Given the description of an element on the screen output the (x, y) to click on. 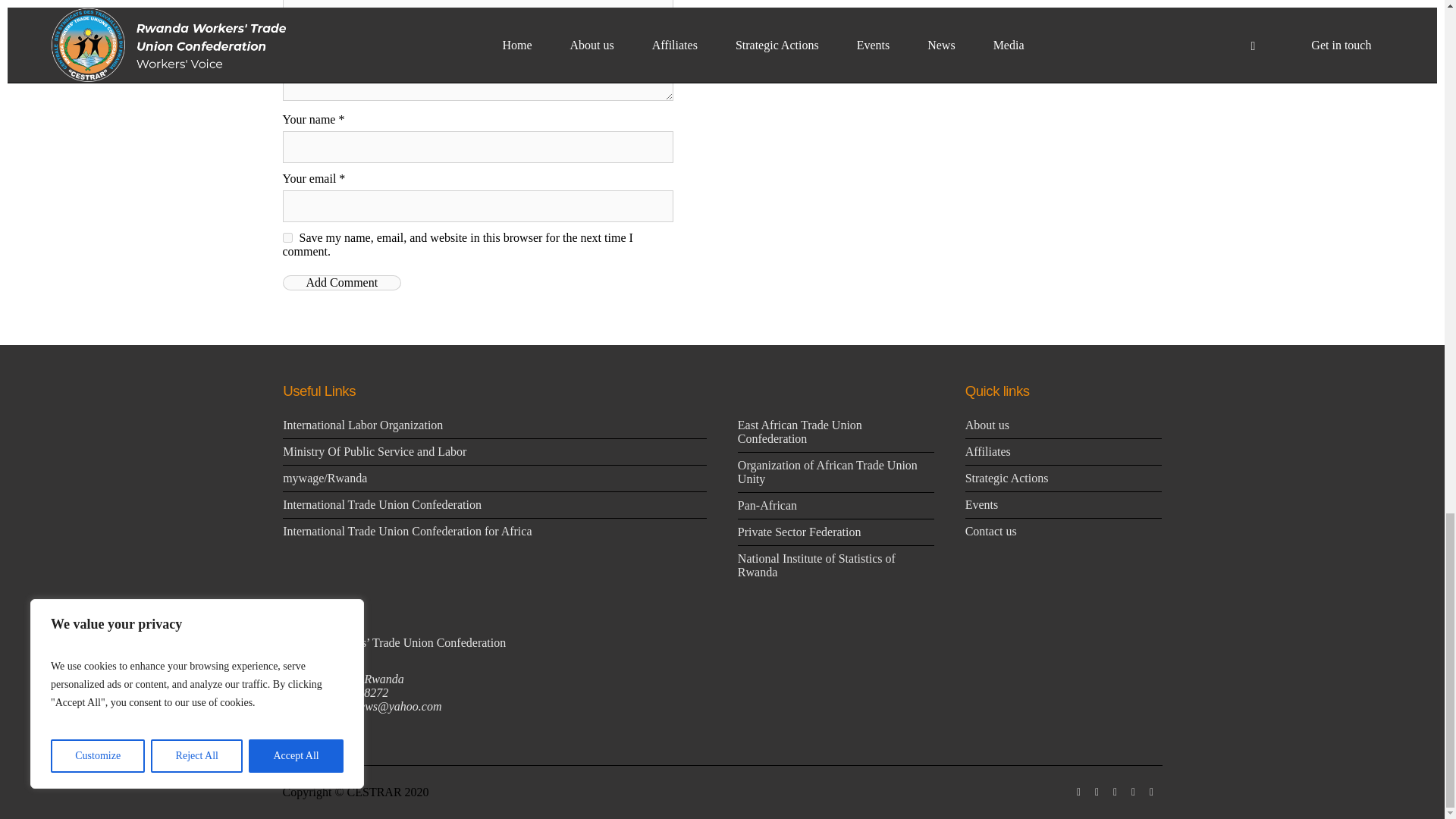
Skype (1150, 792)
Google (1114, 792)
Add Comment (341, 282)
yes (287, 237)
Facebook (1096, 792)
Twitter (1132, 792)
Linkedin (1078, 792)
